Given the description of an element on the screen output the (x, y) to click on. 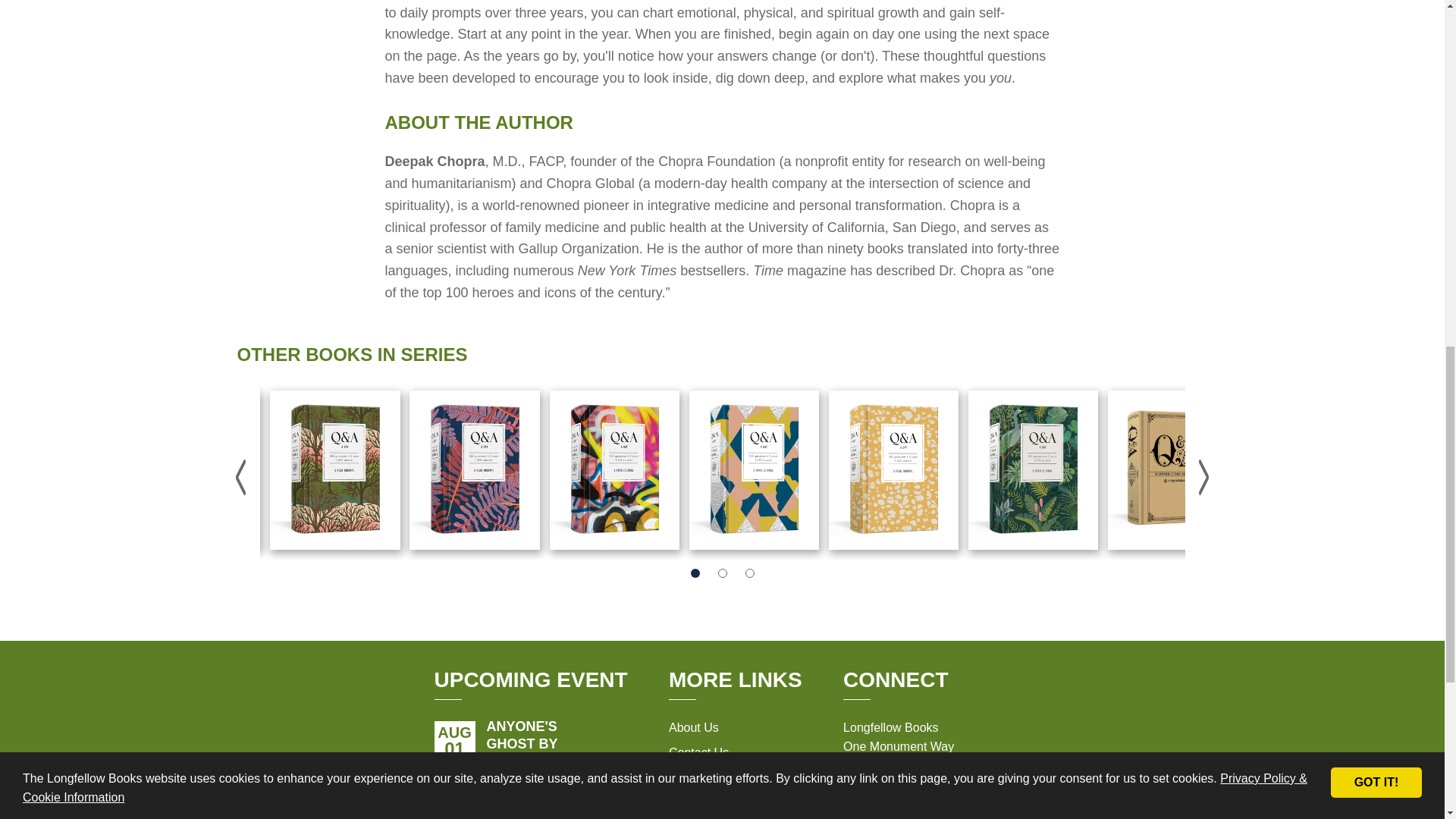
GOT IT! (1376, 55)
